Given the description of an element on the screen output the (x, y) to click on. 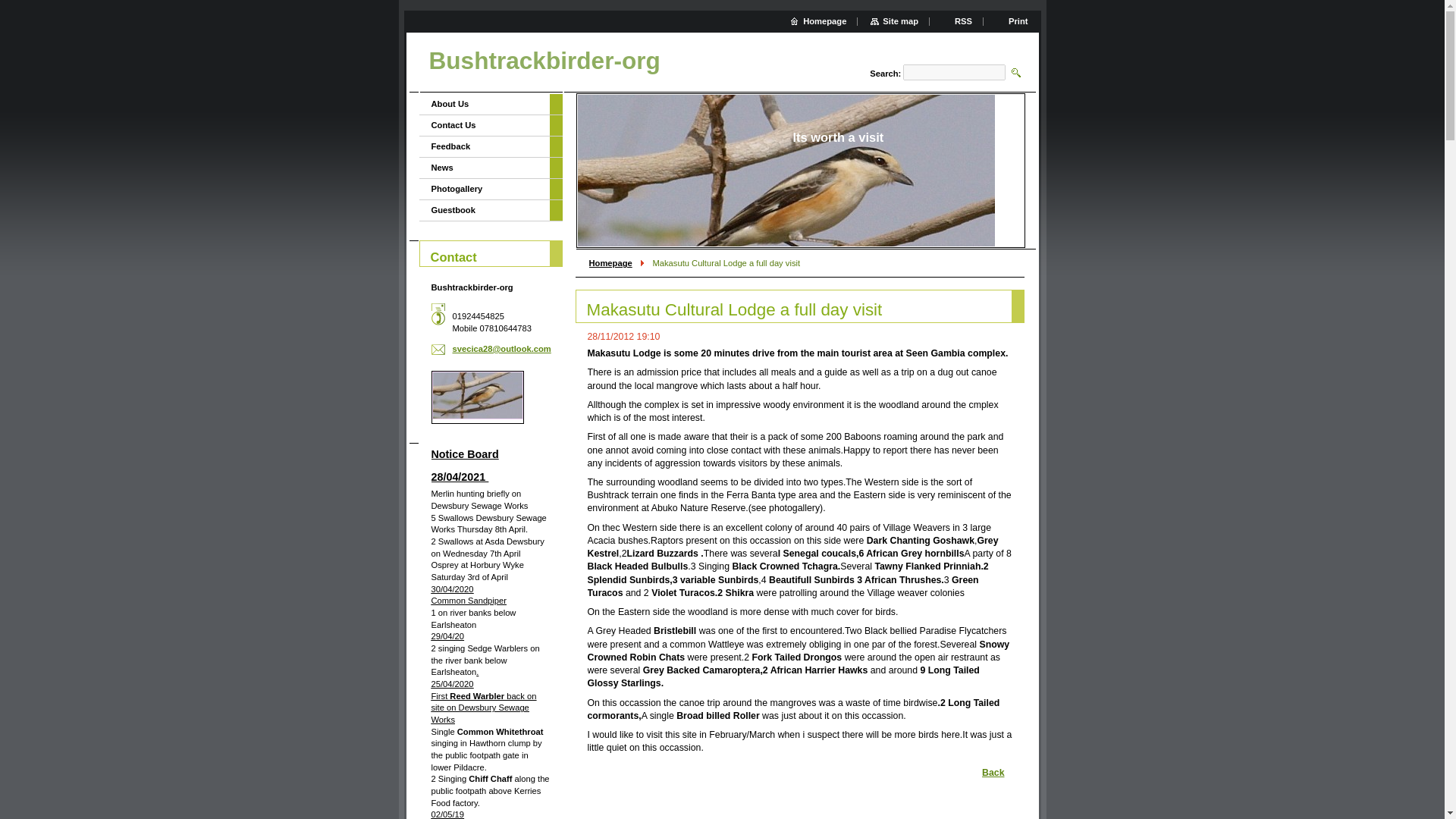
Homepage (609, 262)
RSS (957, 20)
Site map (894, 20)
Contact Us (483, 125)
Photogallery (483, 189)
RSS Feeds (957, 20)
Back (989, 772)
News (483, 168)
Print page (1011, 20)
Feedback (483, 146)
